Given the description of an element on the screen output the (x, y) to click on. 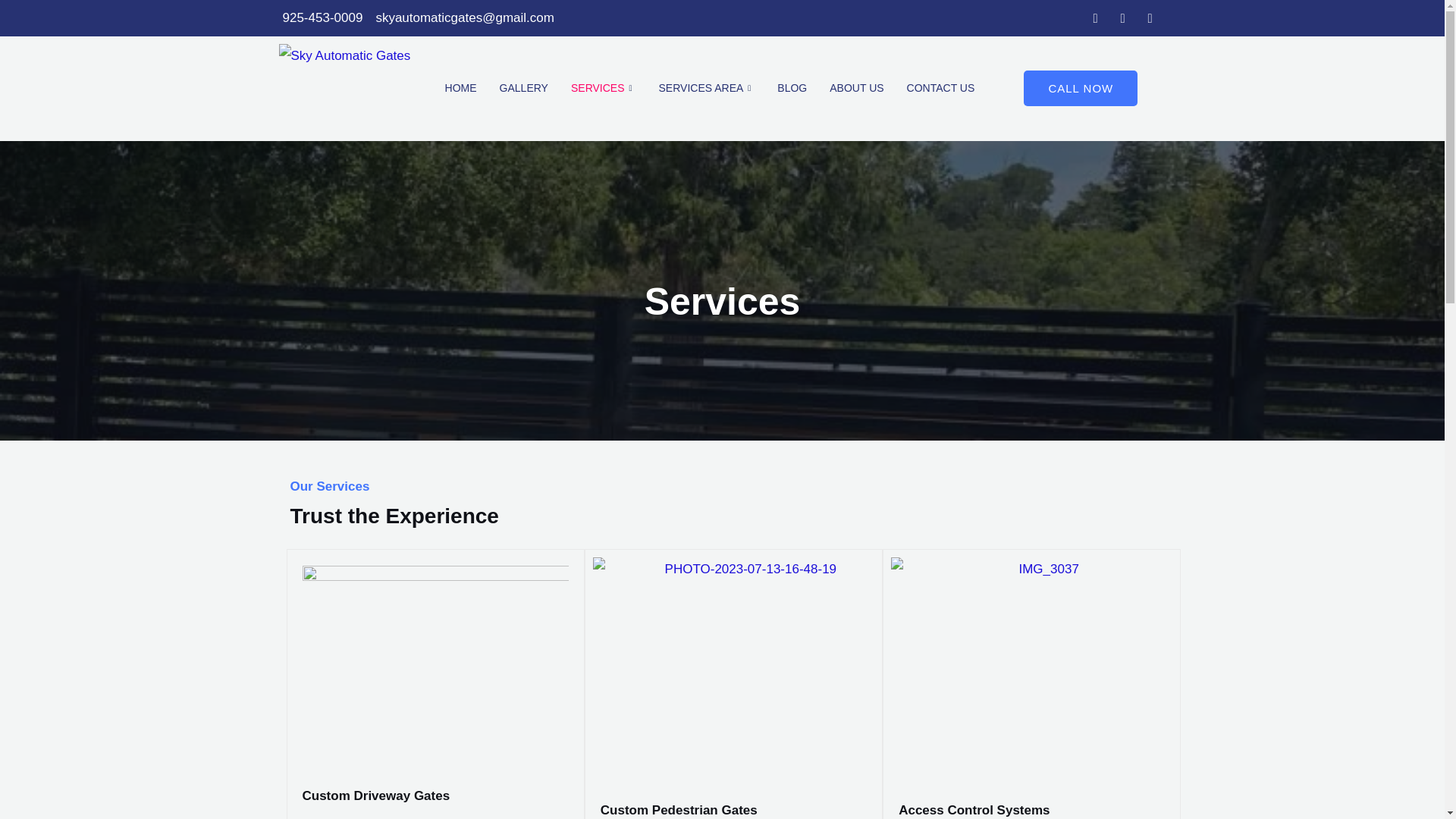
PHOTO-2023-07-13-16-48-19 (744, 668)
925-453-0009 (320, 17)
SERVICES (603, 88)
HOME (460, 88)
GALLERY (523, 88)
